Given the description of an element on the screen output the (x, y) to click on. 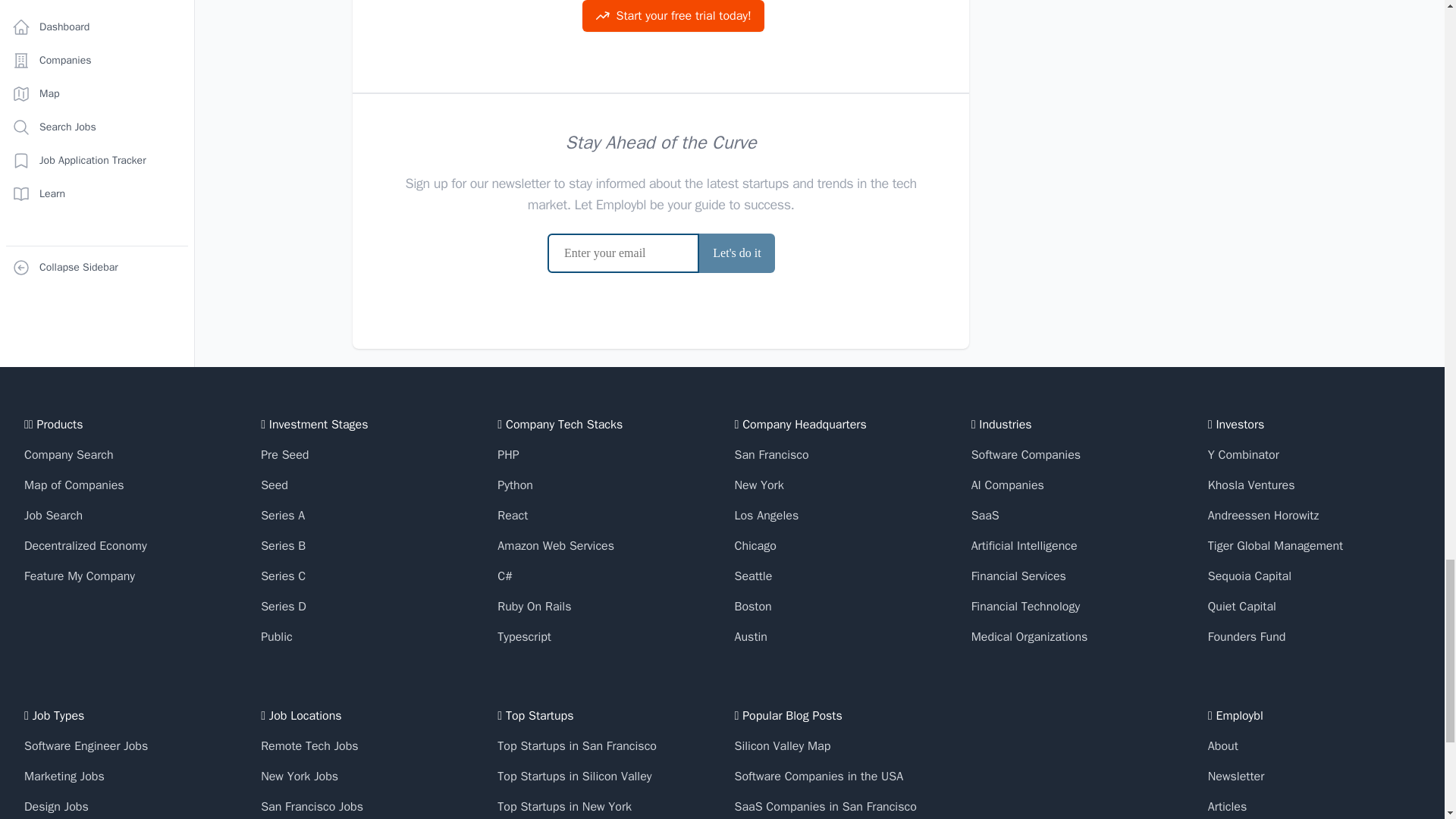
Start your free trial today! (673, 15)
